Given the description of an element on the screen output the (x, y) to click on. 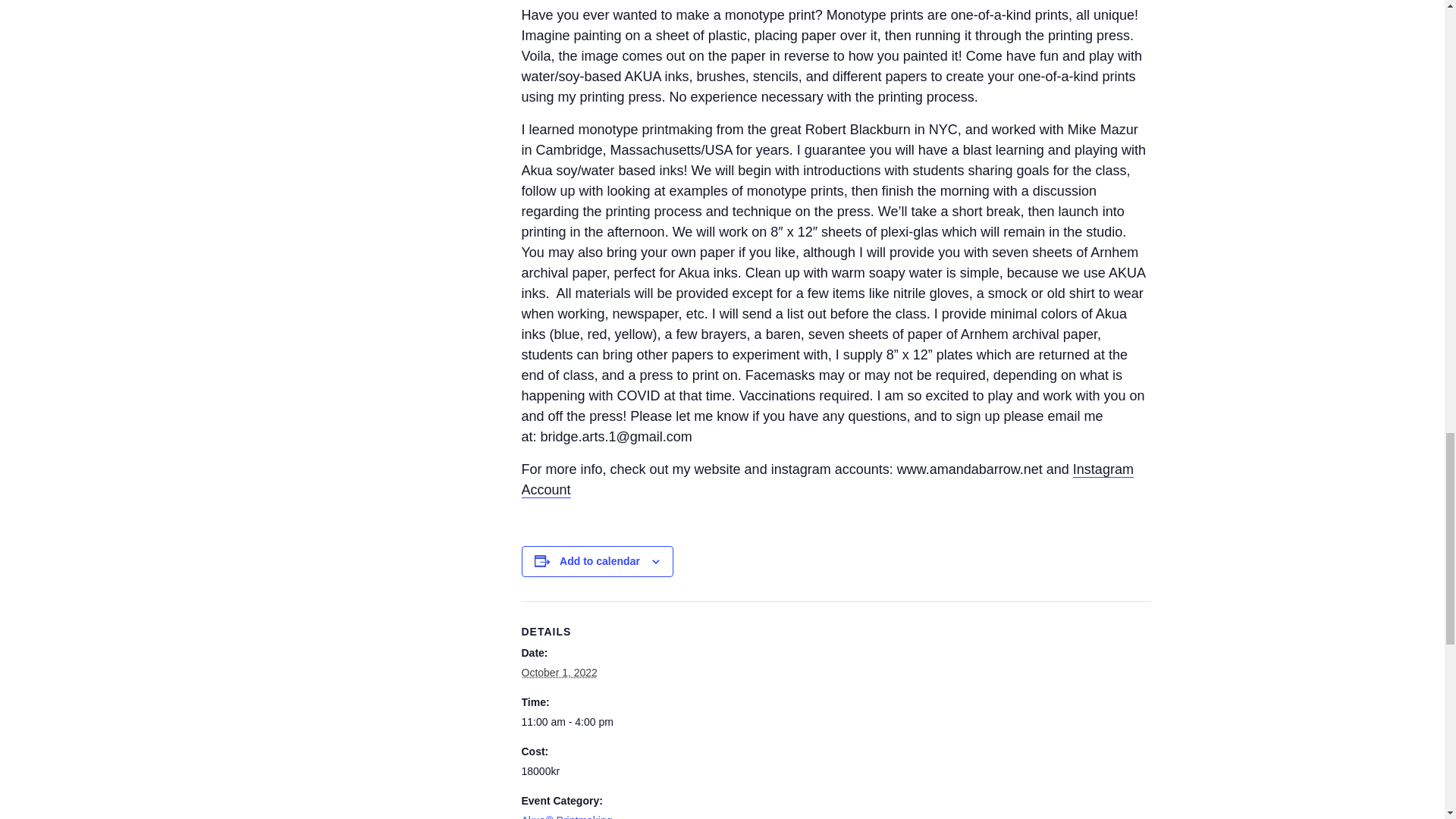
2022-10-01 (558, 672)
2022-10-01 (585, 721)
